Given the description of an element on the screen output the (x, y) to click on. 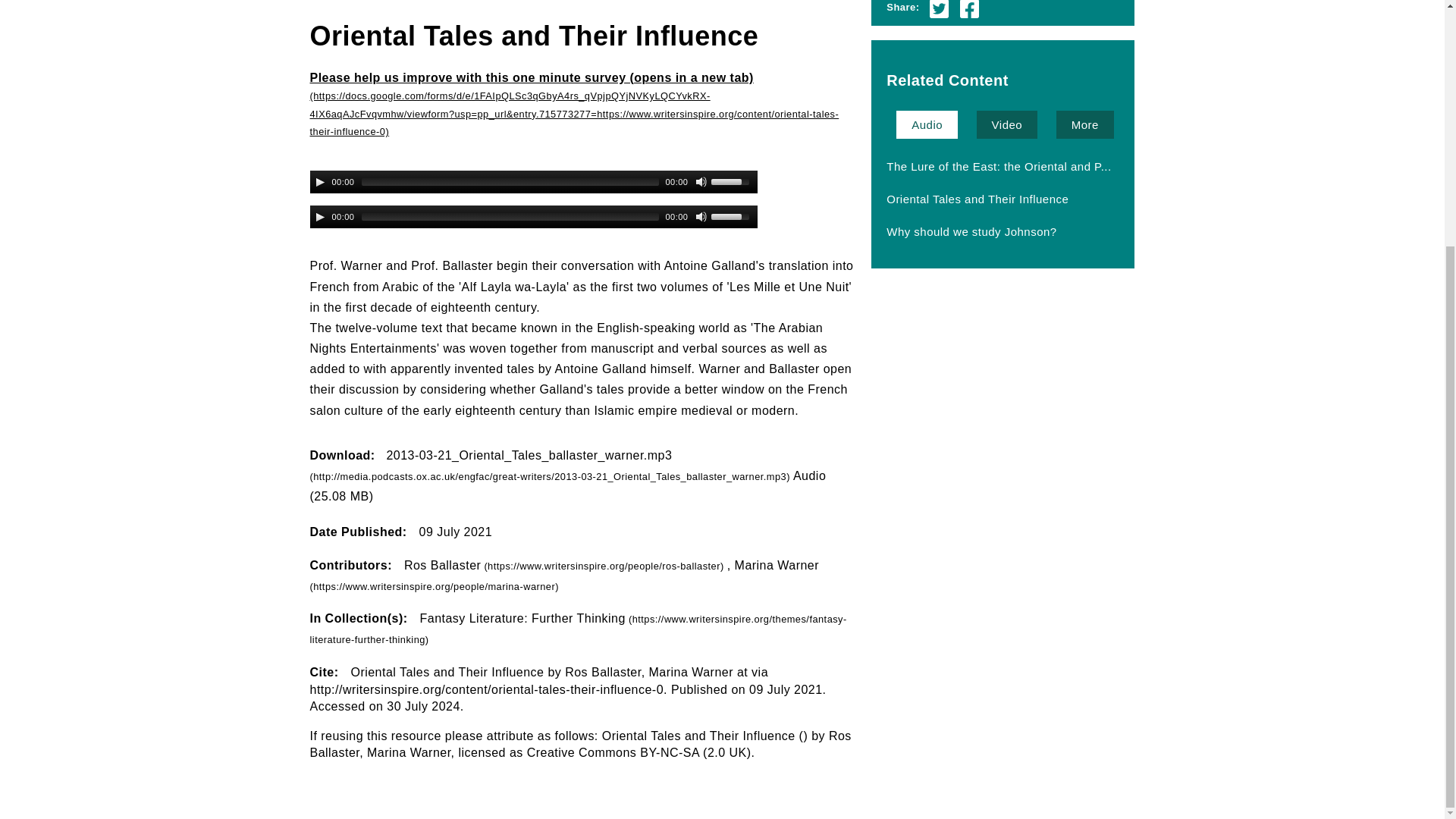
Marina Warner (563, 575)
Mute Toggle (701, 216)
Video (1007, 124)
More (1085, 124)
The Lure of the East: the Oriental and P... (998, 165)
Mute Toggle (701, 182)
Twitter (939, 8)
Facebook (968, 8)
Fantasy Literature: Further Thinking (576, 628)
Audio (927, 124)
Oriental Tales and Their Influence (977, 198)
Ros Ballaster (565, 564)
Why should we study Johnson? (970, 230)
